Given the description of an element on the screen output the (x, y) to click on. 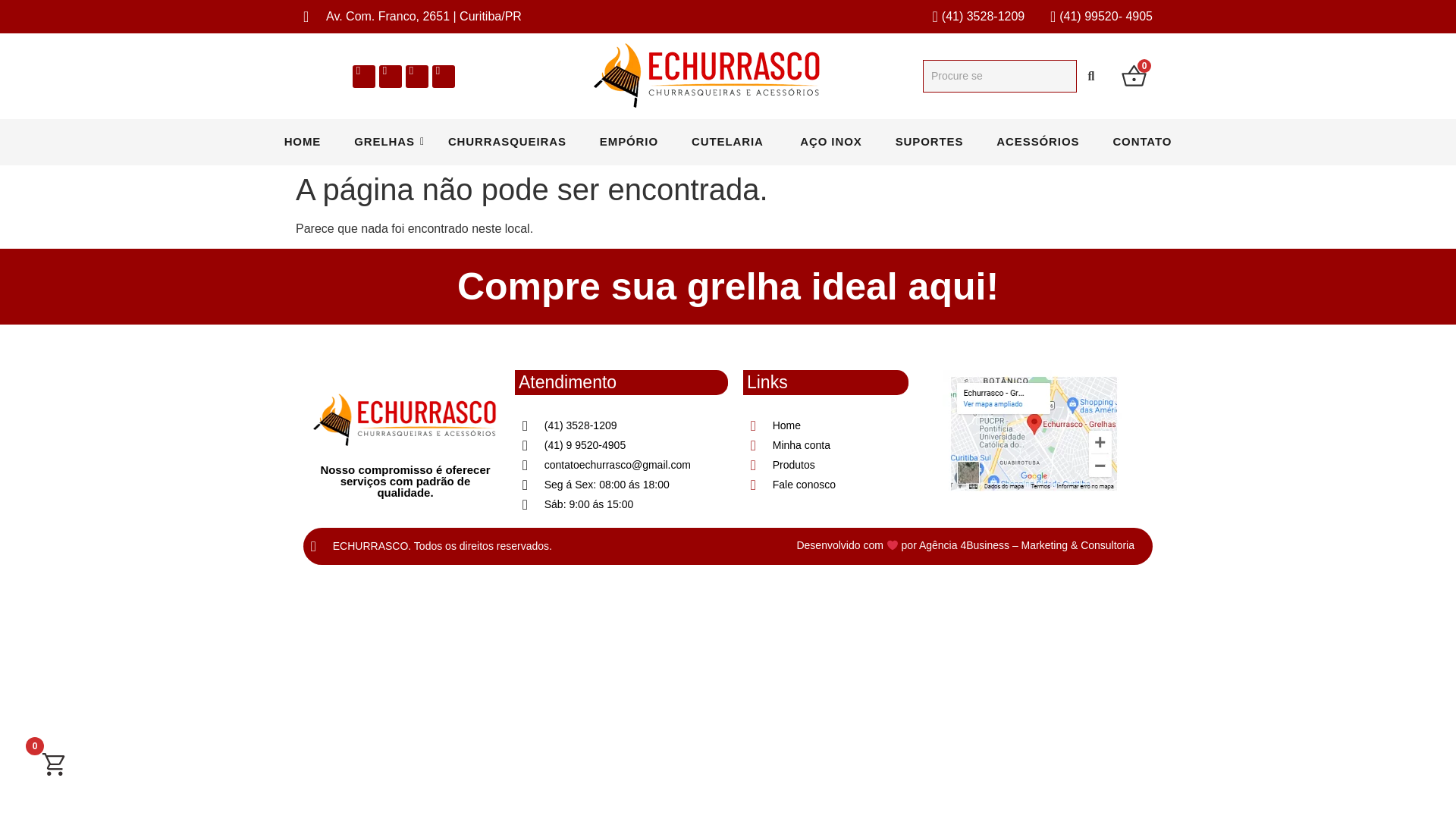
CUTELARIA  (729, 142)
Search (1000, 75)
GRELHAS (384, 142)
SUPORTES (929, 142)
CHURRASQUEIRAS (507, 142)
CONTATO (1141, 142)
HOME (302, 142)
